Given the description of an element on the screen output the (x, y) to click on. 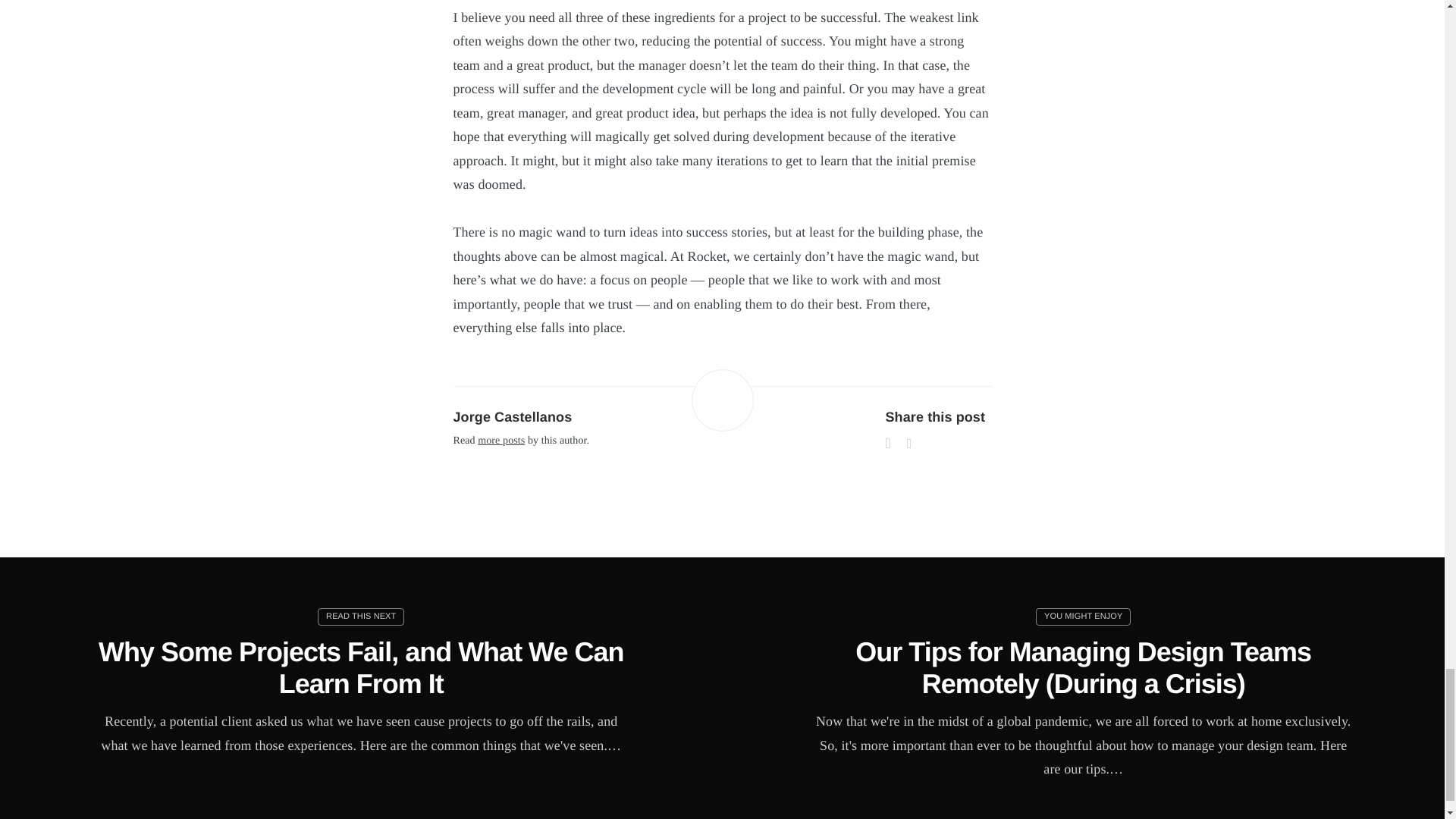
more posts (500, 440)
Jorge Castellanos (512, 417)
